Given the description of an element on the screen output the (x, y) to click on. 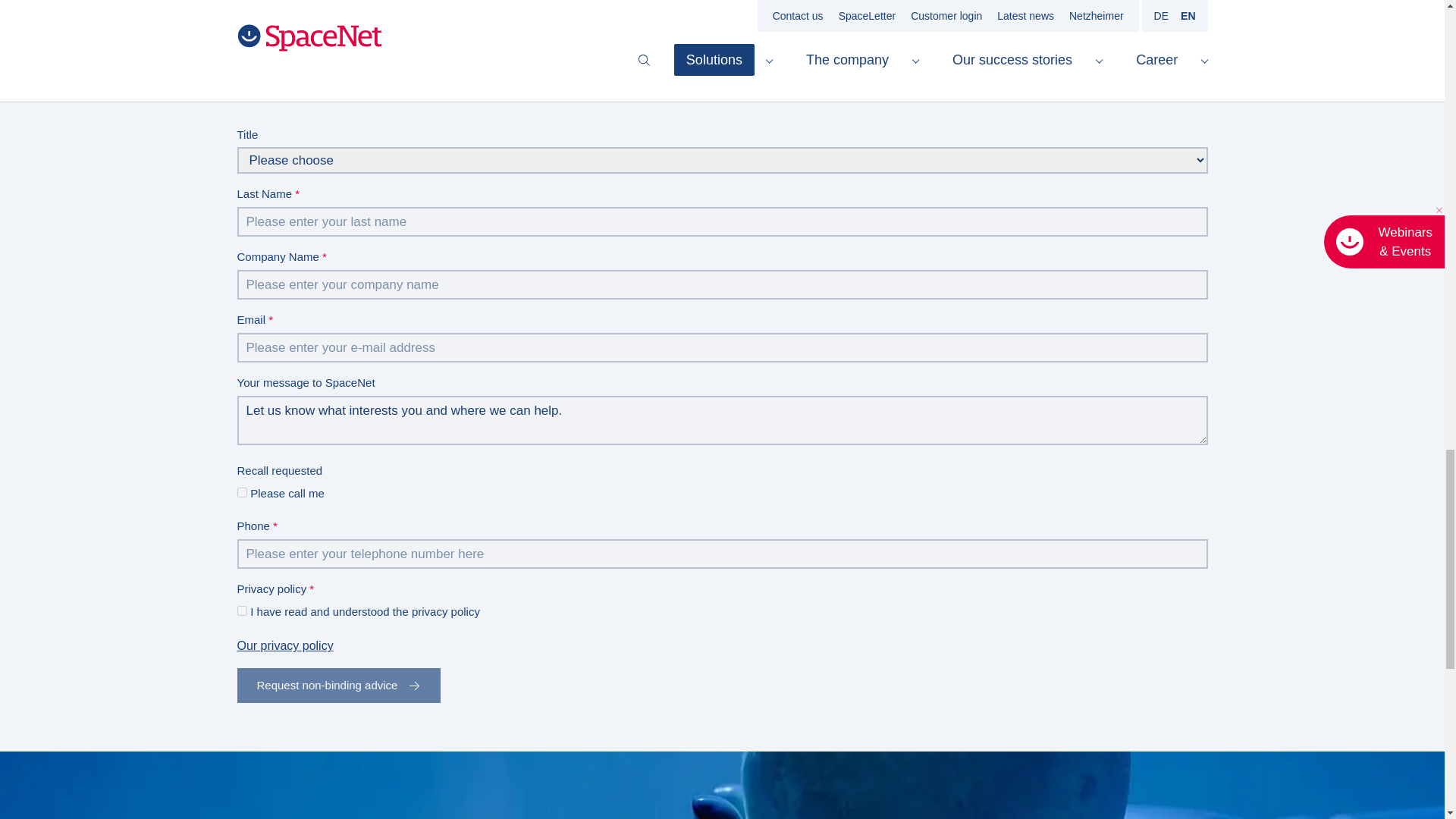
Yes (240, 610)
Yes (240, 492)
